Given the description of an element on the screen output the (x, y) to click on. 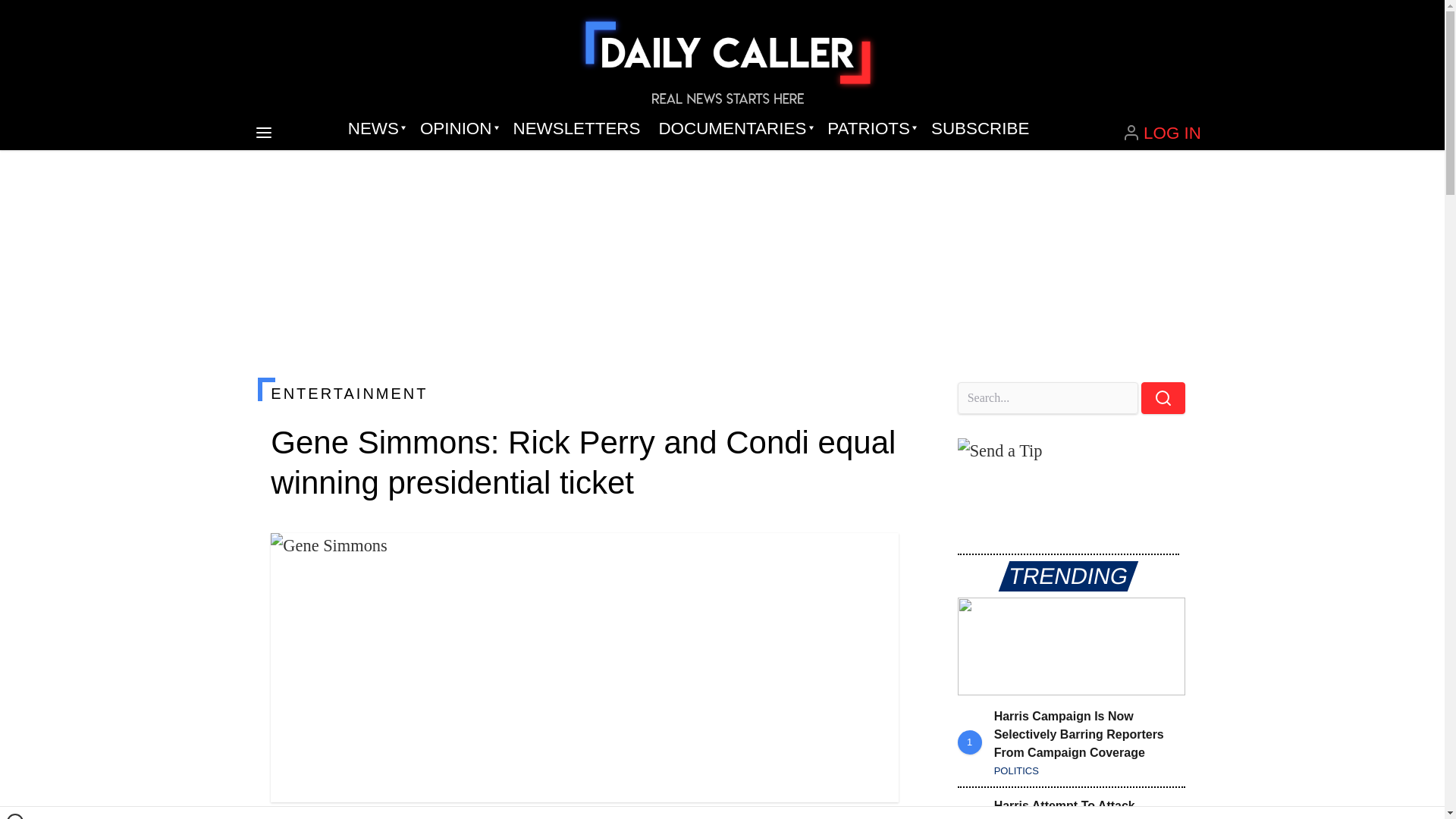
Toggle fullscreen (874, 556)
SUBSCRIBE (979, 128)
OPINION (456, 128)
Close window (14, 816)
PATRIOTS (869, 128)
NEWSLETTERS (576, 128)
DOCUMENTARIES (733, 128)
ENTERTAINMENT (584, 393)
NEWS (374, 128)
